Given the description of an element on the screen output the (x, y) to click on. 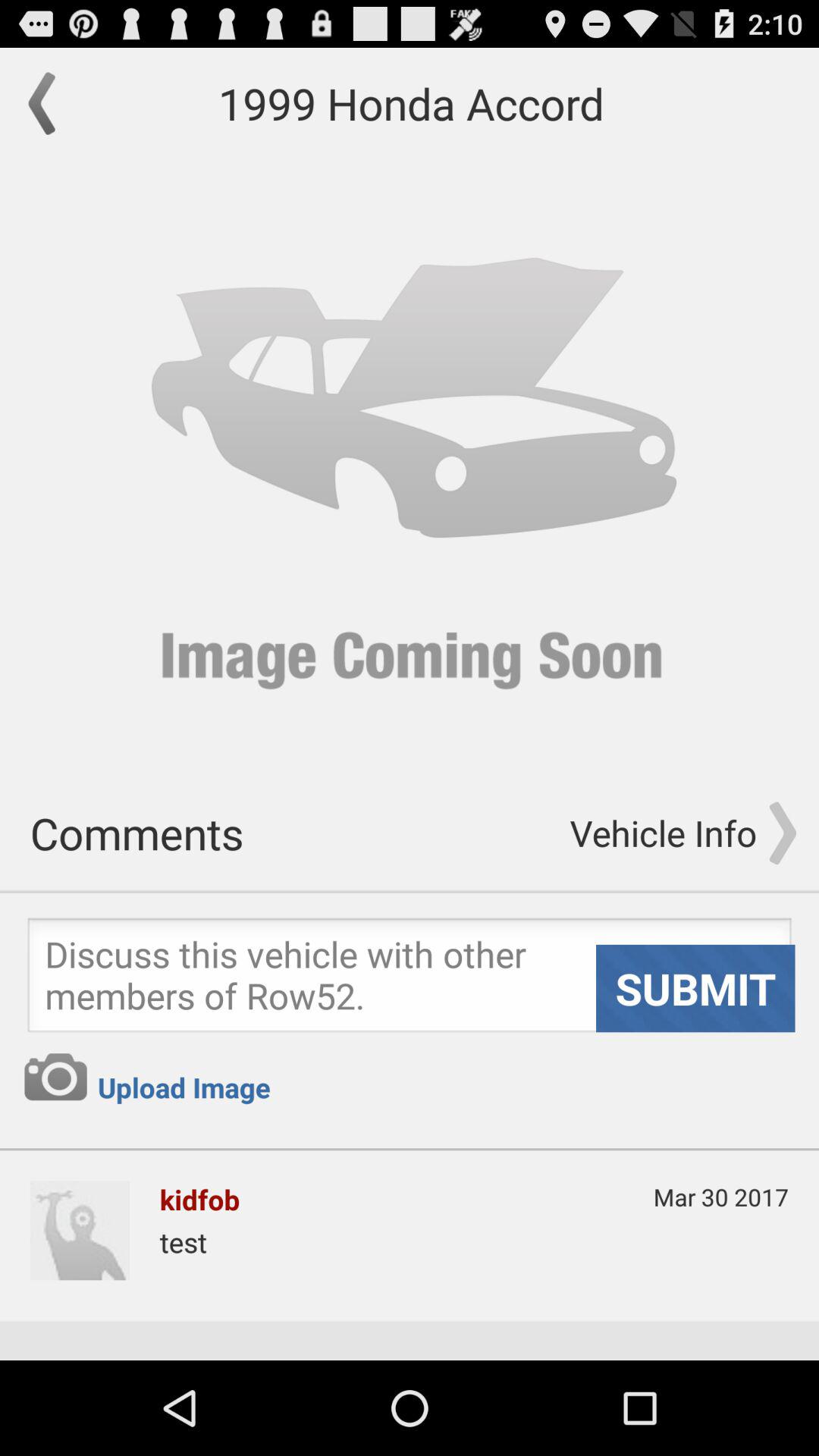
submit (409, 979)
